Given the description of an element on the screen output the (x, y) to click on. 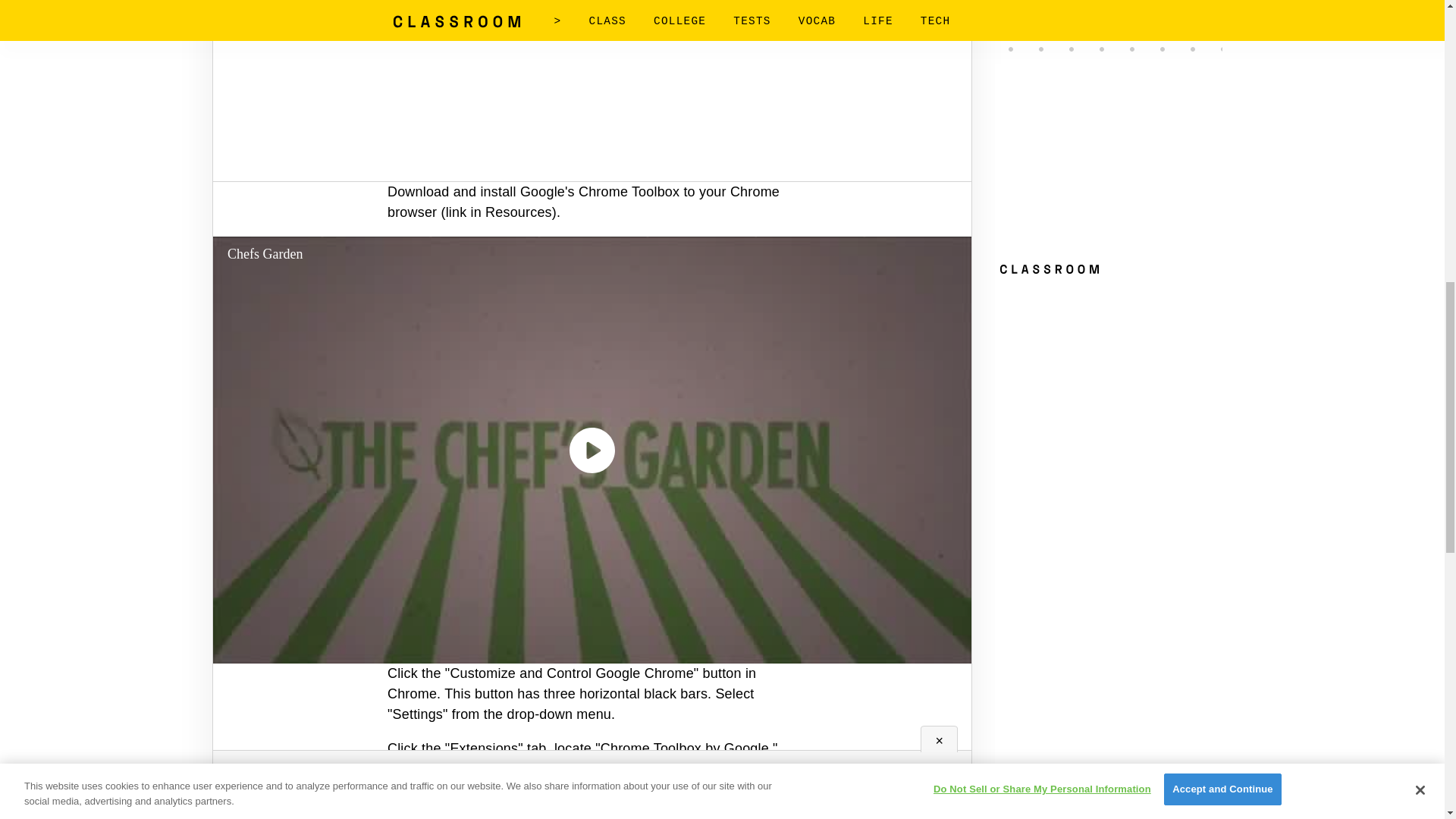
Advertisement (591, 80)
